Given the description of an element on the screen output the (x, y) to click on. 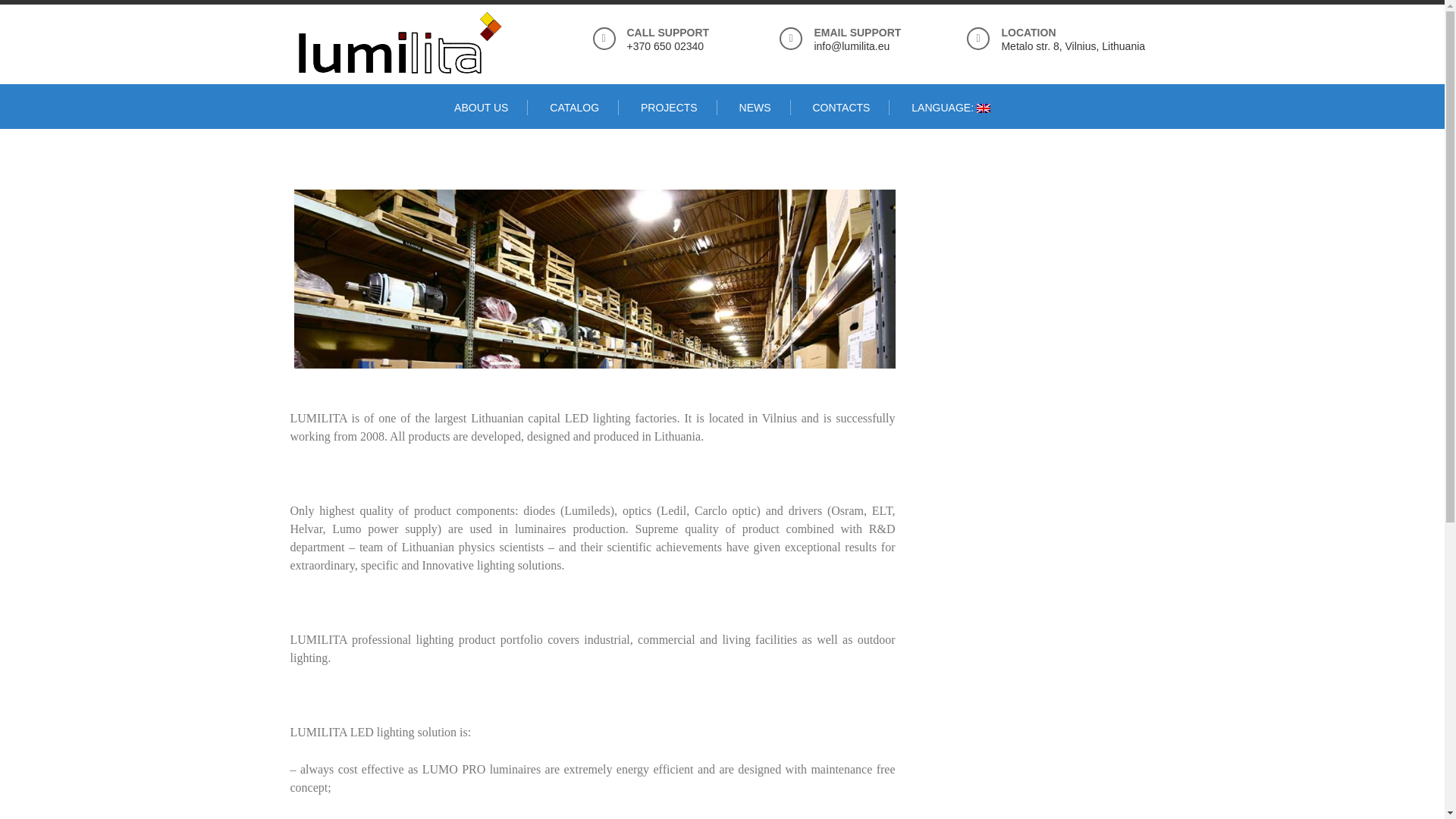
LANGUAGE:  (950, 107)
CATALOG (574, 107)
PROJECTS (669, 107)
NEWS (755, 107)
ABOUT US (481, 107)
English (950, 107)
